Given the description of an element on the screen output the (x, y) to click on. 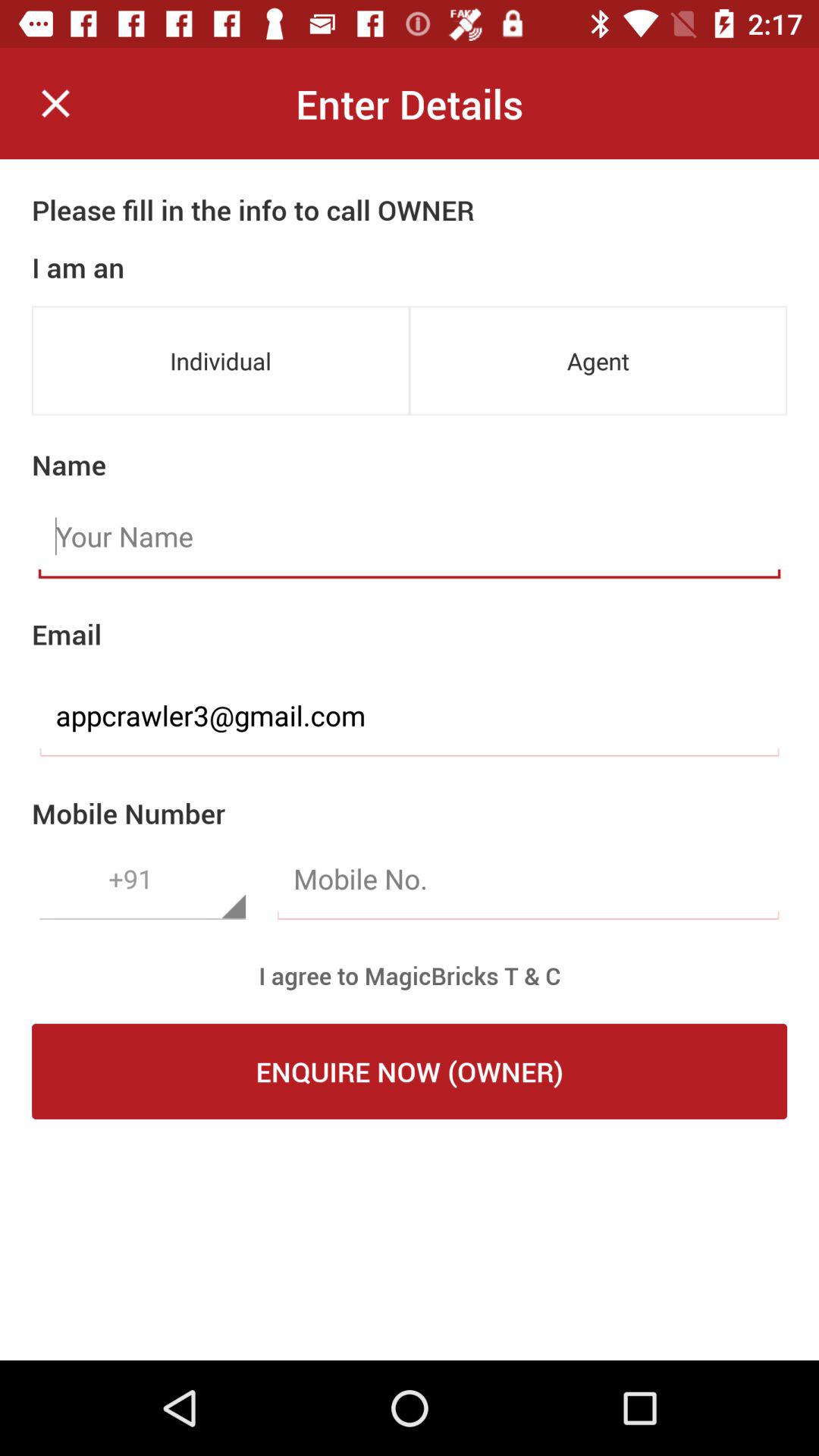
remove this window (55, 103)
